Given the description of an element on the screen output the (x, y) to click on. 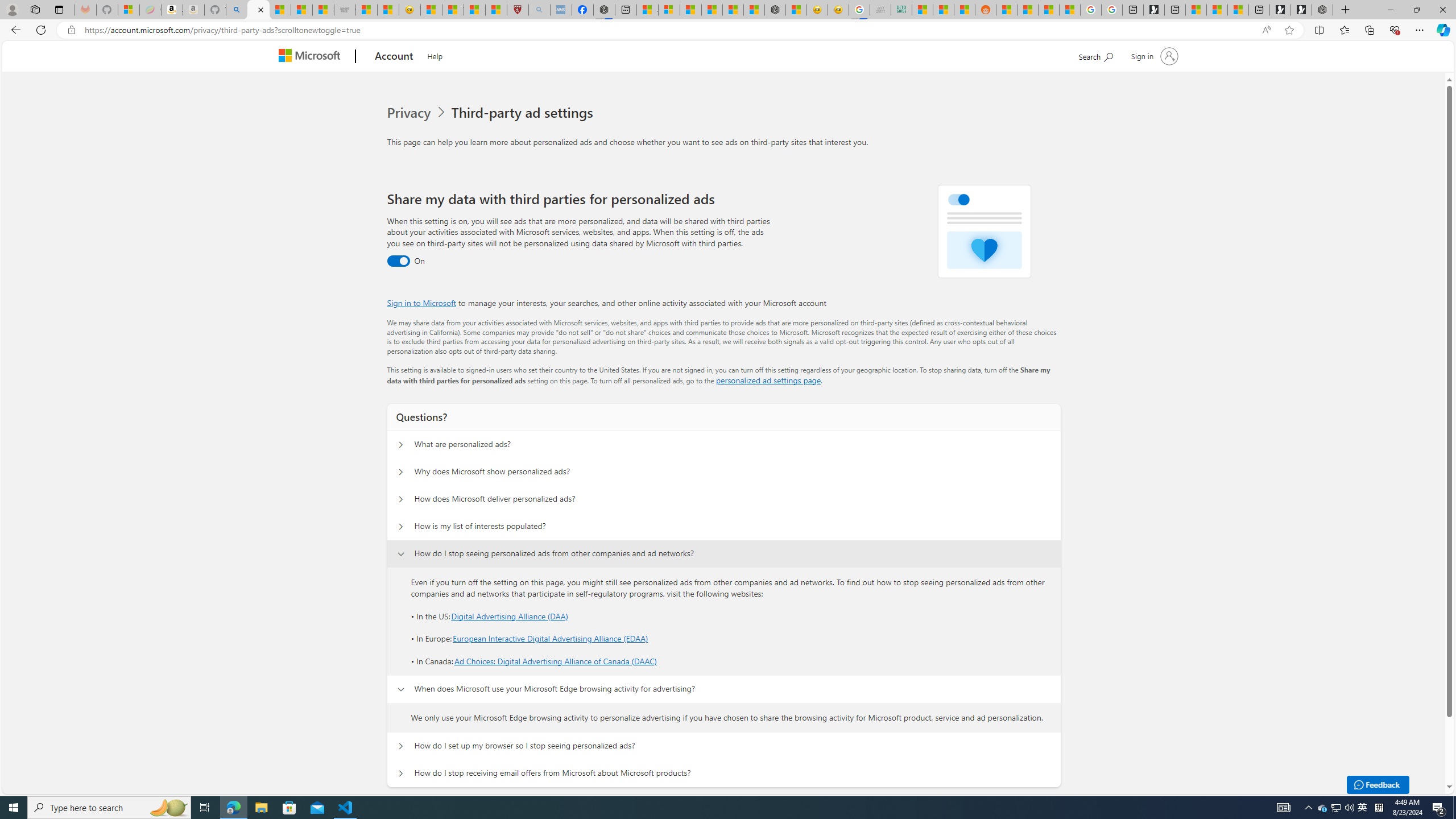
Combat Siege (345, 9)
Robert H. Shmerling, MD - Harvard Health (517, 9)
Ad Choices: Digital Advertising Alliance of Canada (DAAC) (555, 660)
Sign in to your account (1153, 55)
R******* | Trusted Community Engagement and Contributions (1006, 9)
Questions? Why does Microsoft show personalized ads? (401, 472)
